Given the description of an element on the screen output the (x, y) to click on. 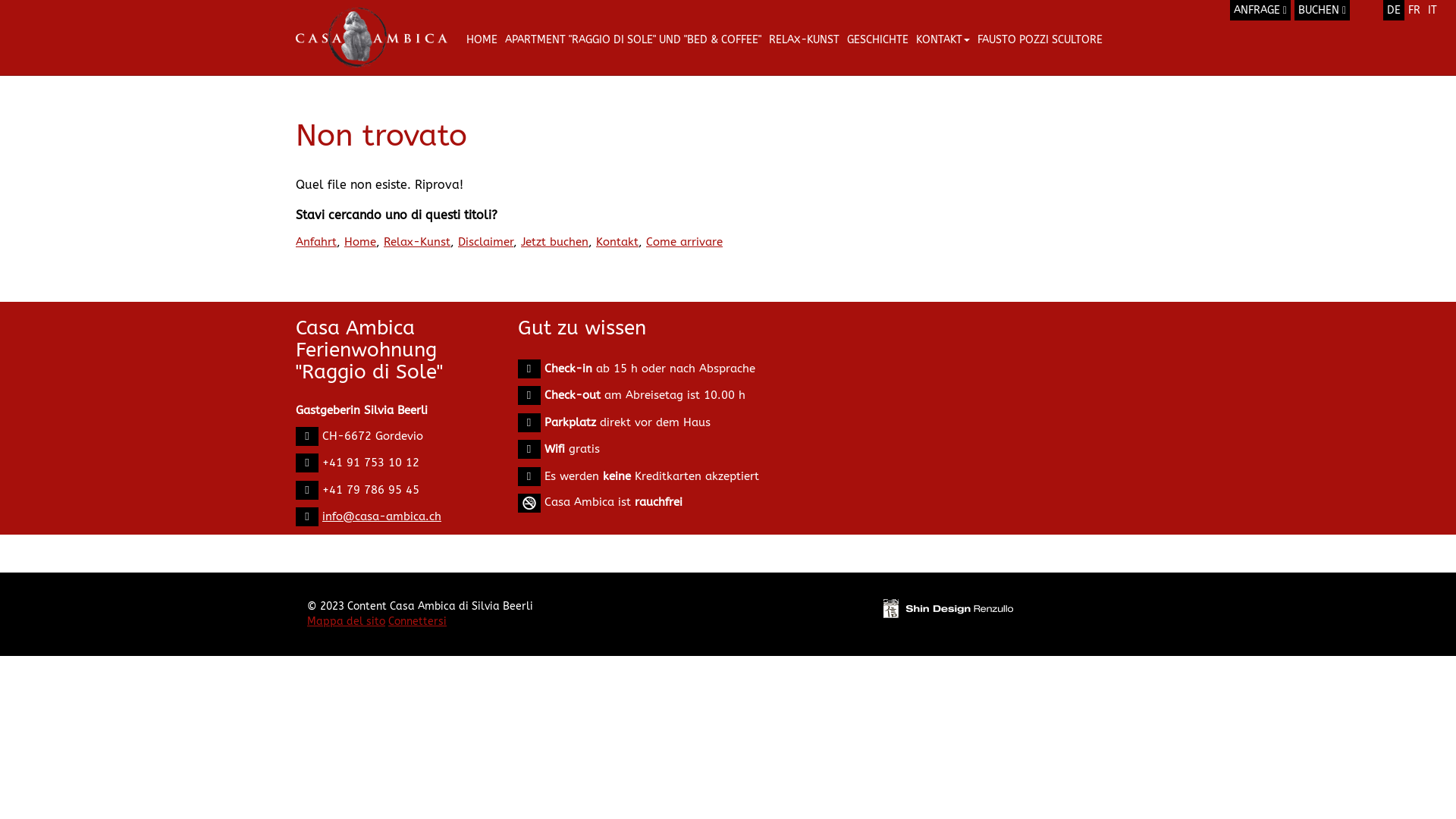
GESCHICHTE Element type: text (877, 39)
Mappa del sito Element type: text (346, 621)
Relax-Kunst Element type: text (416, 241)
HOME Element type: text (481, 39)
DE Element type: text (1393, 10)
Come arrivare Element type: text (684, 241)
Anfahrt Element type: text (315, 241)
FR Element type: text (1414, 10)
Jetzt buchen Element type: text (554, 241)
Disclaimer Element type: text (485, 241)
FAUSTO POZZI SCULTORE Element type: text (1039, 39)
info@casa-ambica.ch Element type: text (381, 516)
KONTAKT Element type: text (942, 39)
Connettersi Element type: text (417, 621)
Kontakt Element type: text (617, 241)
Home Element type: text (360, 241)
IT Element type: text (1432, 10)
APARTMENT "RAGGIO DI SOLE" UND "BED & COFFEE" Element type: text (633, 39)
RELAX-KUNST Element type: text (804, 39)
Shin Design Renzullo Element type: hover (948, 608)
